Given the description of an element on the screen output the (x, y) to click on. 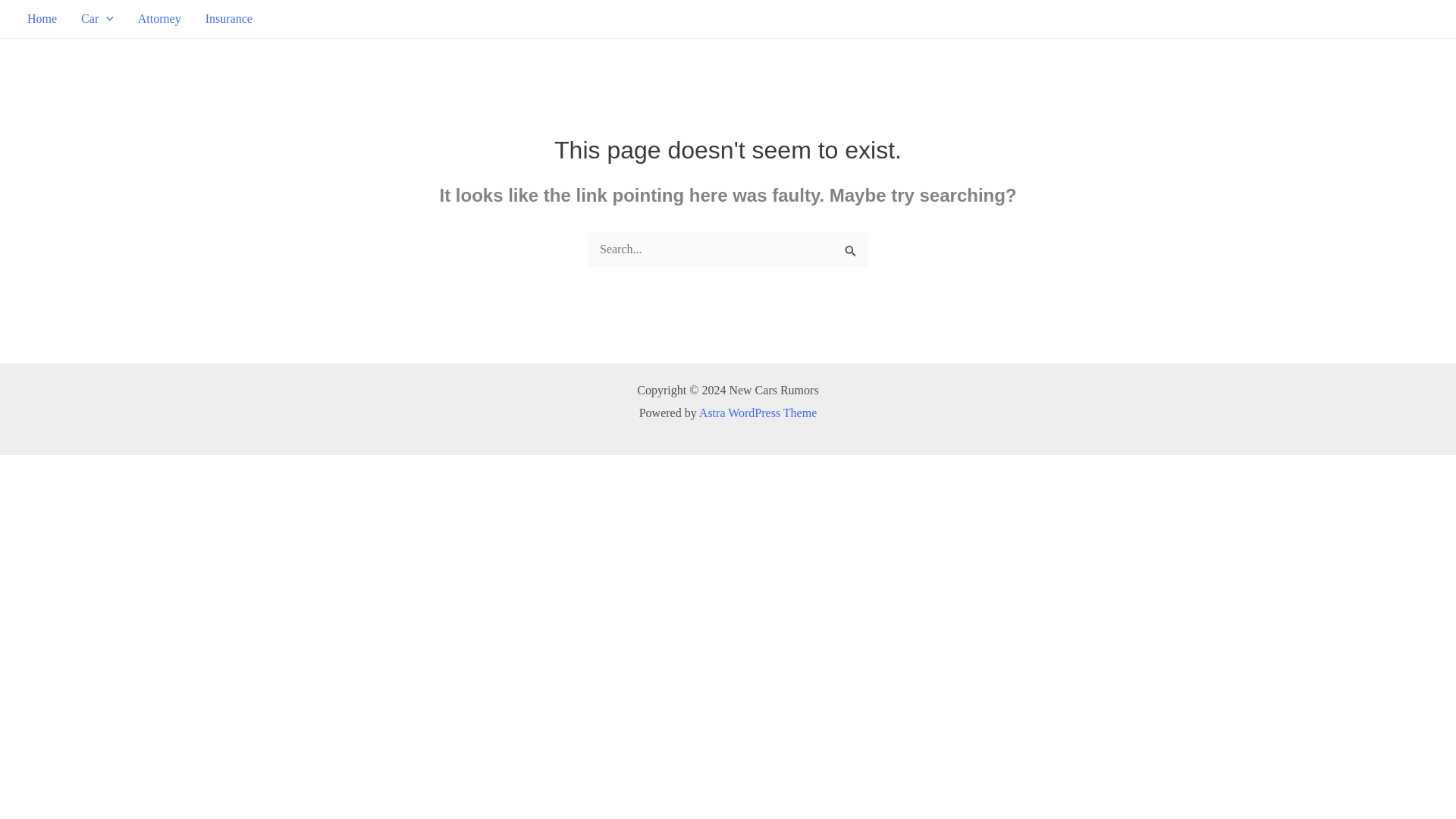
Home (41, 18)
Car (96, 18)
Insurance (228, 18)
Astra WordPress Theme (757, 412)
Attorney (159, 18)
